Given the description of an element on the screen output the (x, y) to click on. 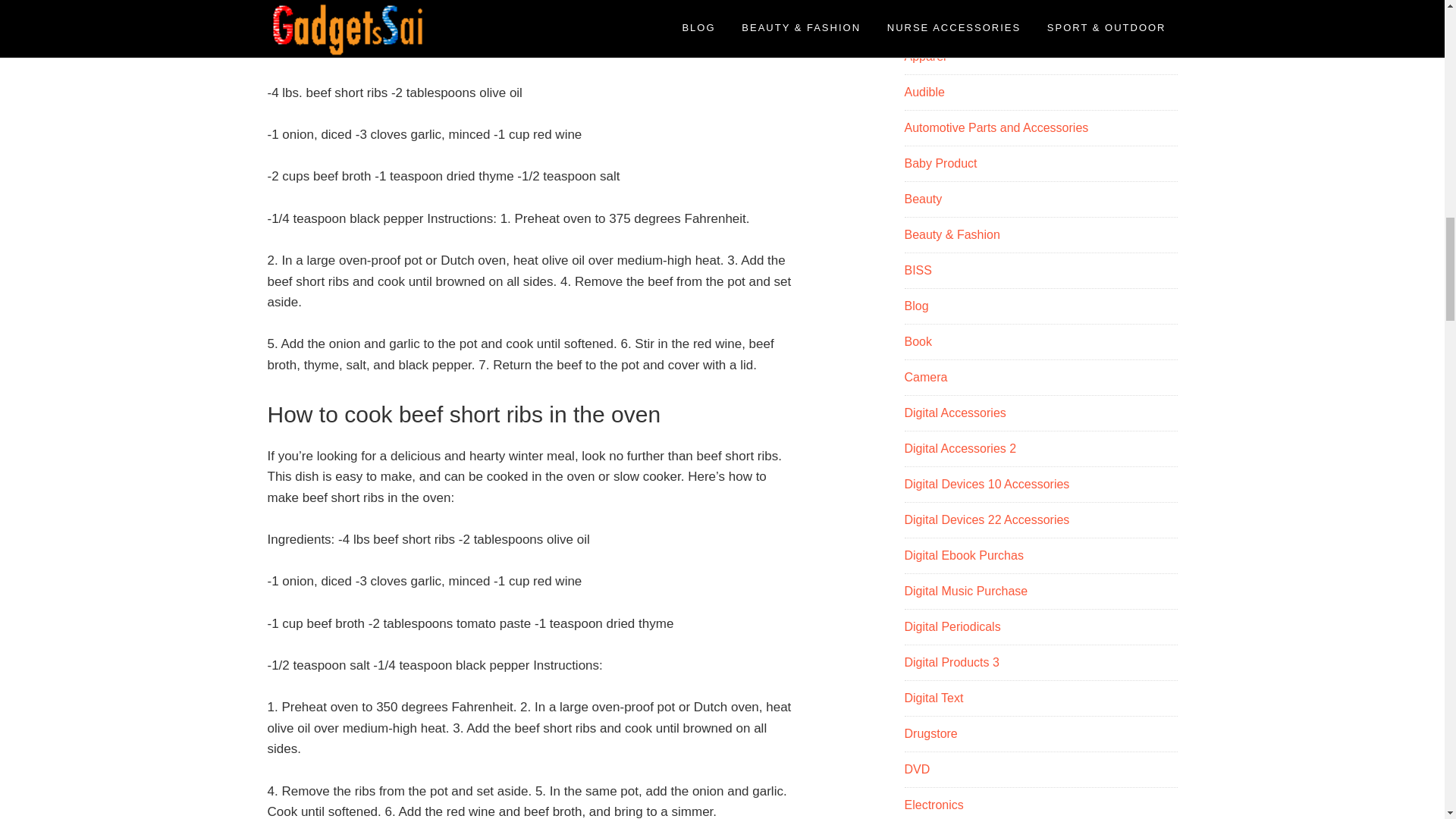
Apparel (924, 56)
Beauty (923, 198)
Automotive Parts and Accessories (995, 127)
Baby Product (940, 163)
Audible (923, 91)
